Given the description of an element on the screen output the (x, y) to click on. 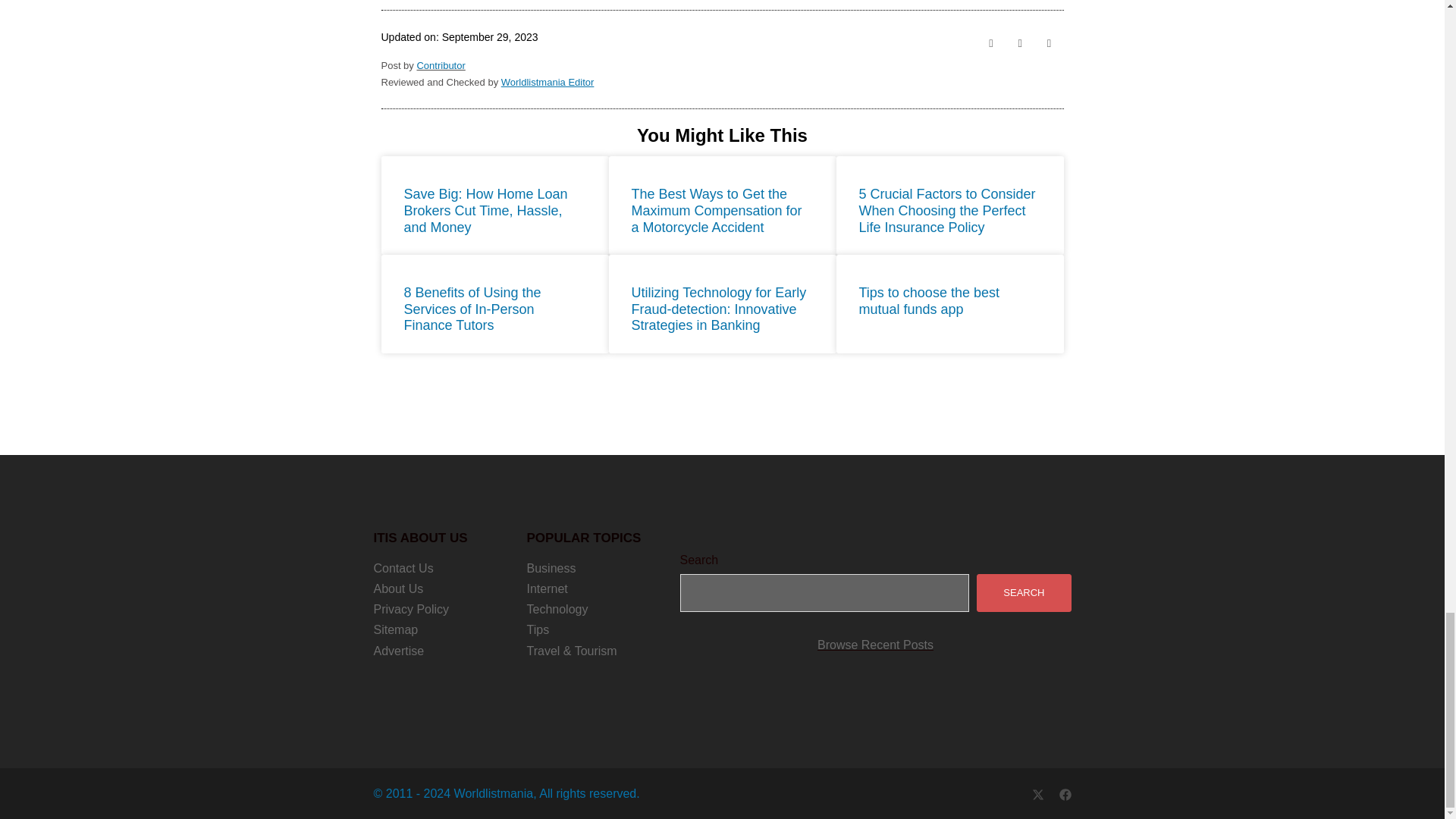
Worldlistmania Editor (547, 81)
Save Big: How Home Loan Brokers Cut Time, Hassle, and Money (485, 210)
8 Benefits of Using the Services of In-Person Finance Tutors (471, 308)
Contributor (440, 65)
